Given the description of an element on the screen output the (x, y) to click on. 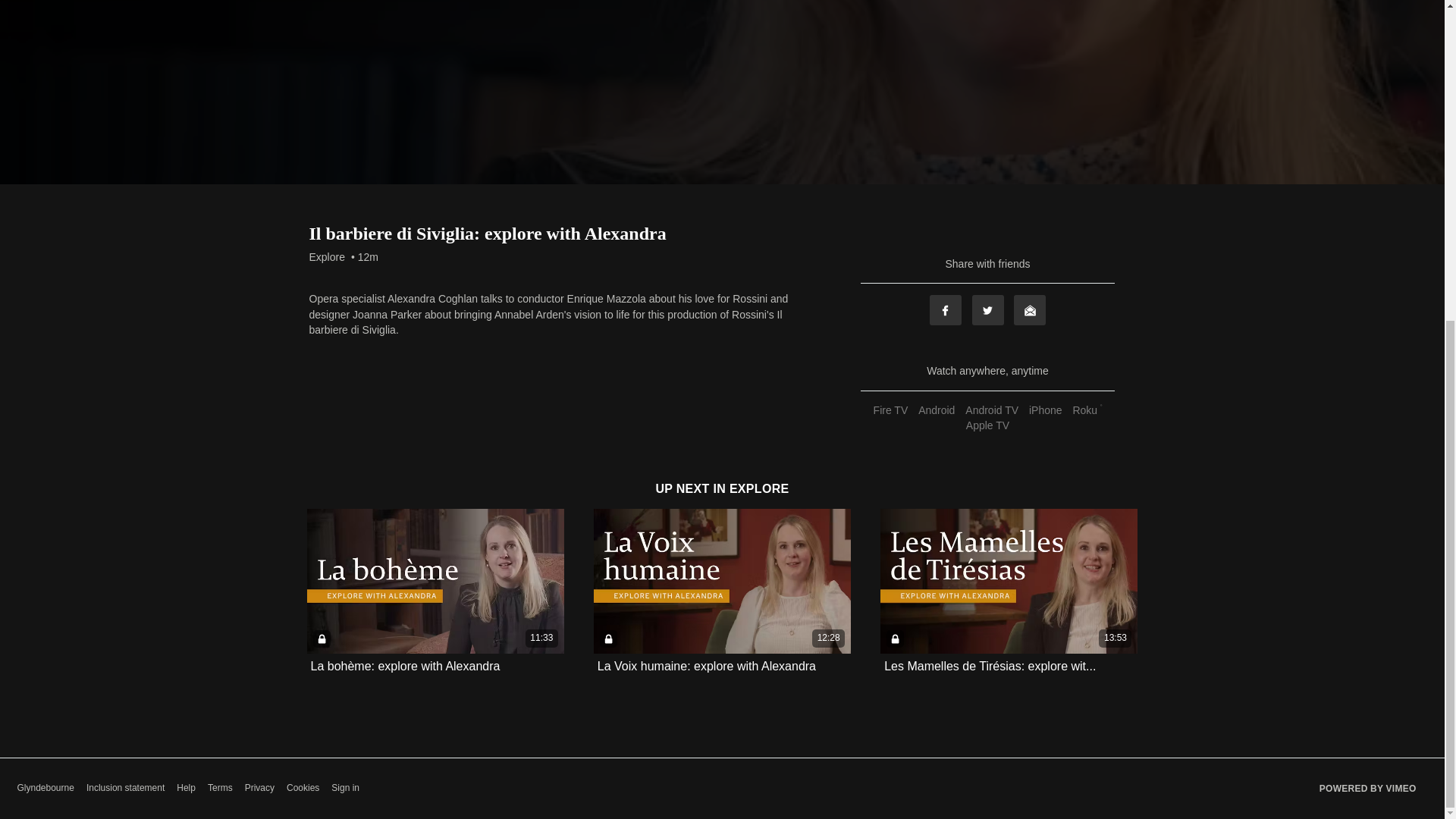
TWITTER (988, 309)
FACEBOOK (945, 309)
Terms (220, 788)
Cookies (302, 788)
iPhone (1045, 410)
POWERED BY VIMEO (1367, 788)
Privacy (259, 788)
EMAIL (1029, 309)
Glyndebourne (45, 788)
Sign in (345, 788)
13:53 (1008, 580)
Apple TV (987, 425)
Android (936, 410)
Android TV (991, 410)
11:33 (434, 580)
